Given the description of an element on the screen output the (x, y) to click on. 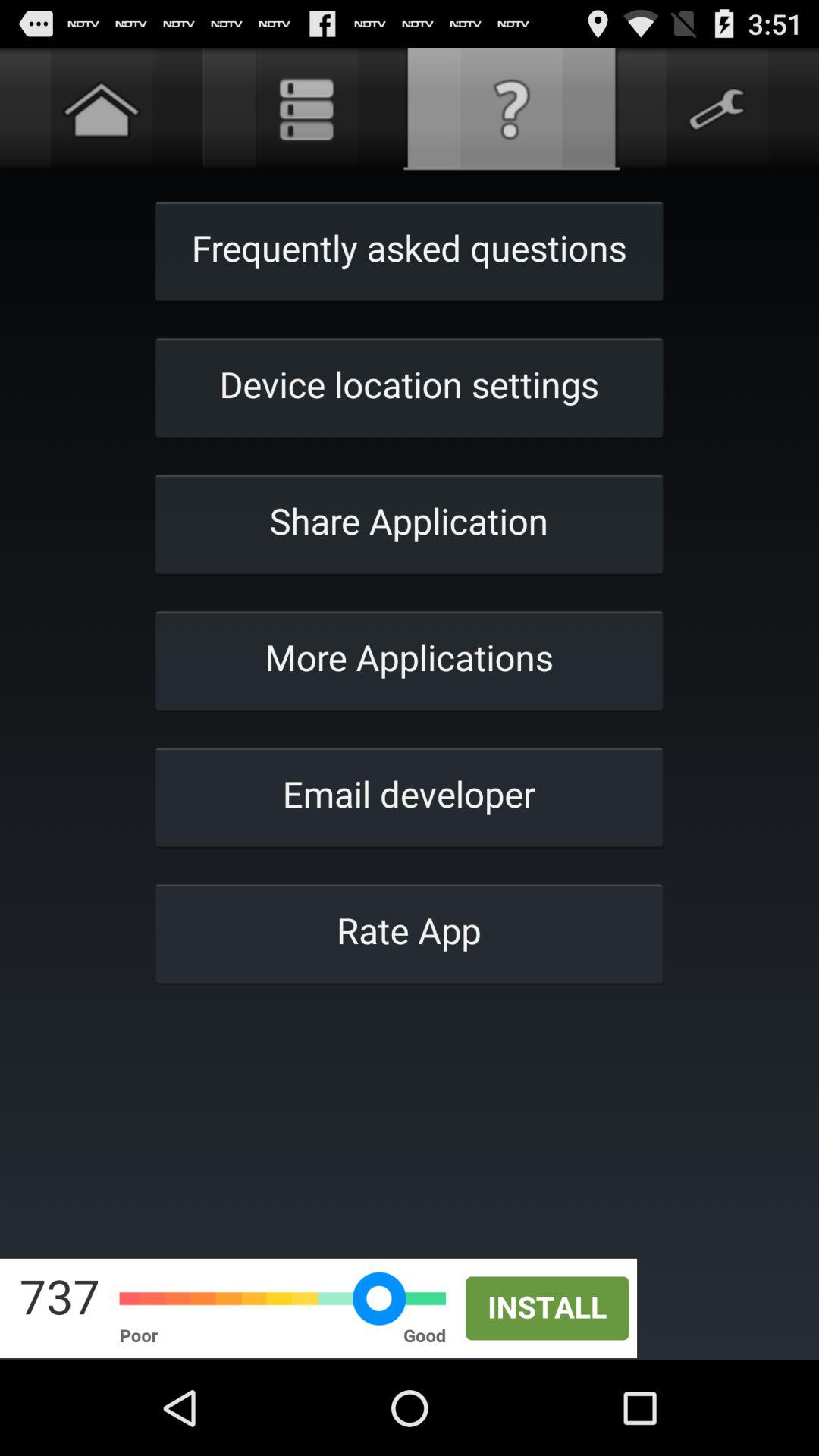
install (409, 1308)
